Given the description of an element on the screen output the (x, y) to click on. 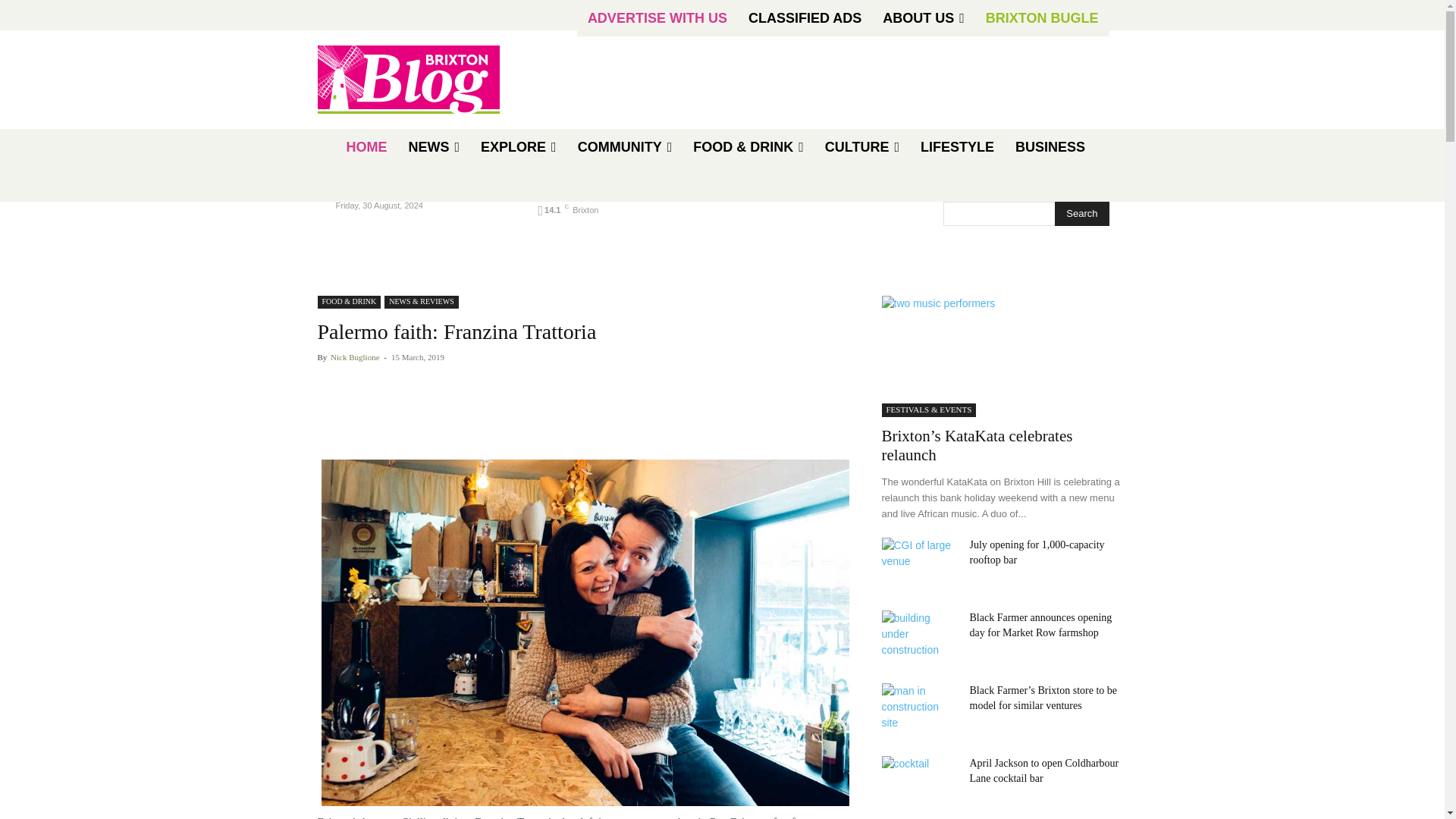
CLASSIFIED ADS (805, 18)
ABOUT US (923, 18)
topFacebookLike (430, 382)
BRIXTON BUGLE (1042, 18)
Brixton Blog (408, 79)
ADVERTISE WITH US (657, 18)
Brixton Blog (425, 79)
